Given the description of an element on the screen output the (x, y) to click on. 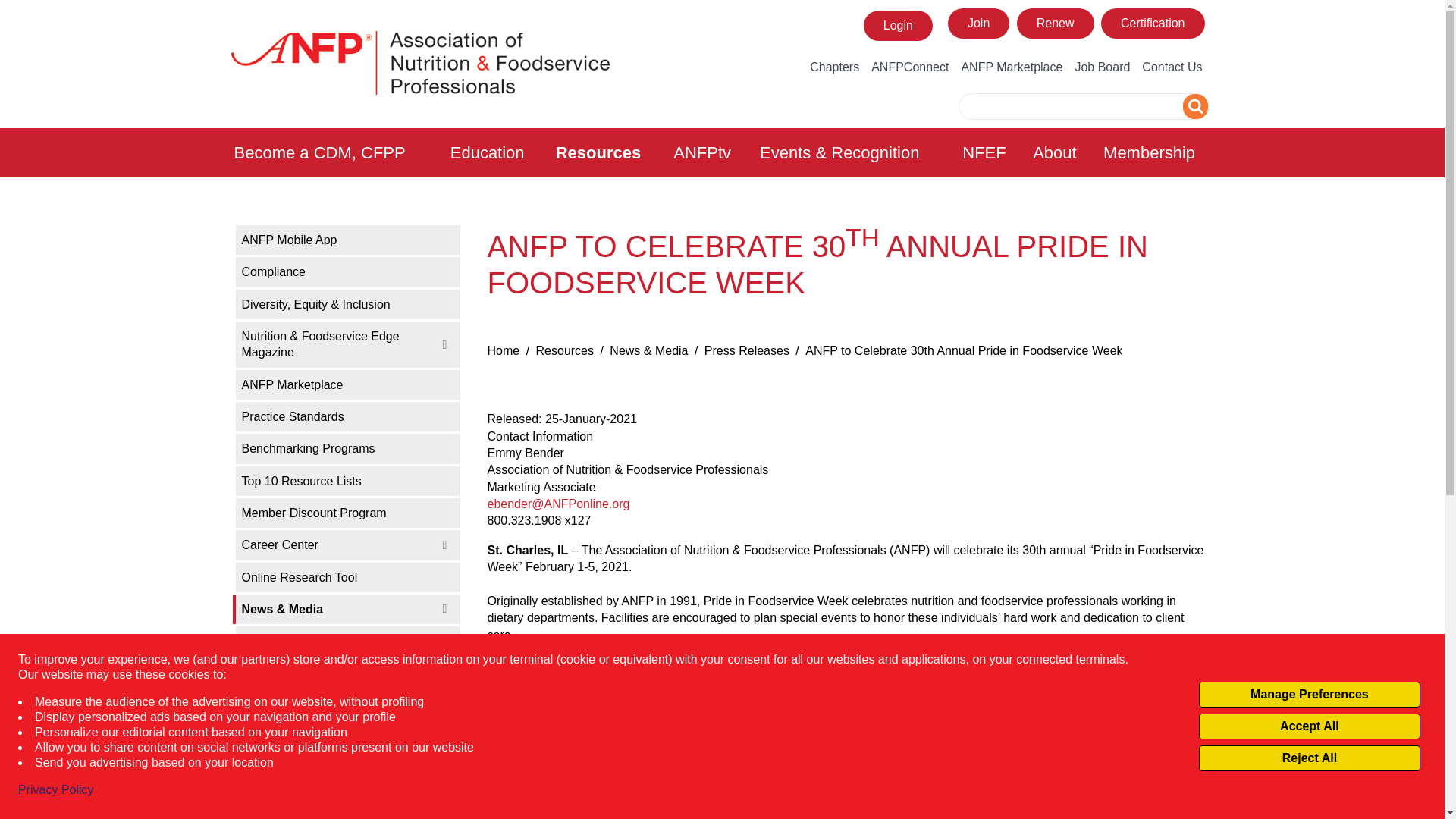
Search (1195, 106)
Job Board (1101, 66)
ANFPConnect (909, 66)
Accept All (1309, 726)
ANFP Marketplace (1011, 66)
Join (978, 23)
Resources (606, 152)
Education (494, 152)
Reject All (1309, 758)
Chapters (833, 66)
